Given the description of an element on the screen output the (x, y) to click on. 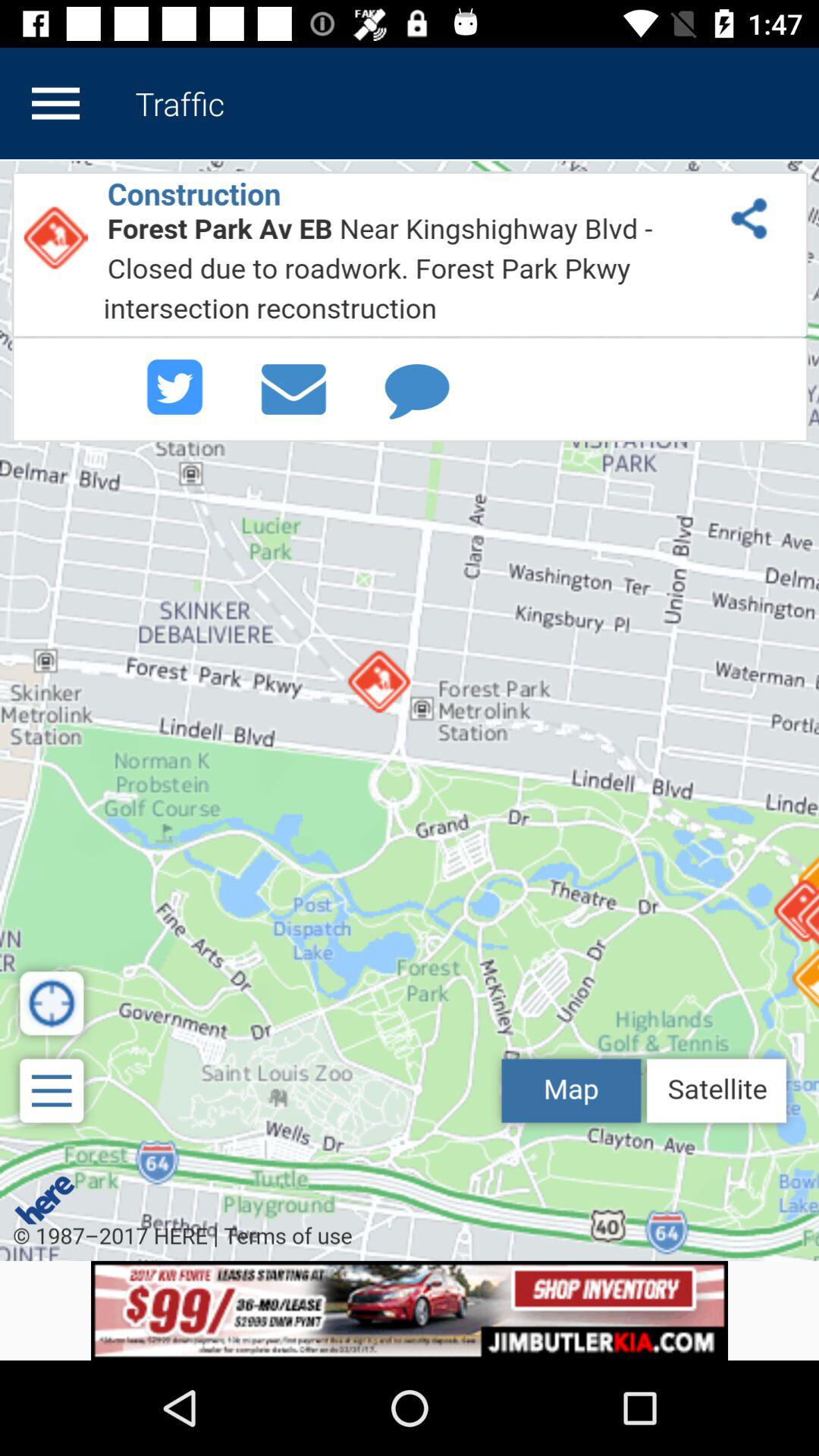
menu (55, 103)
